Given the description of an element on the screen output the (x, y) to click on. 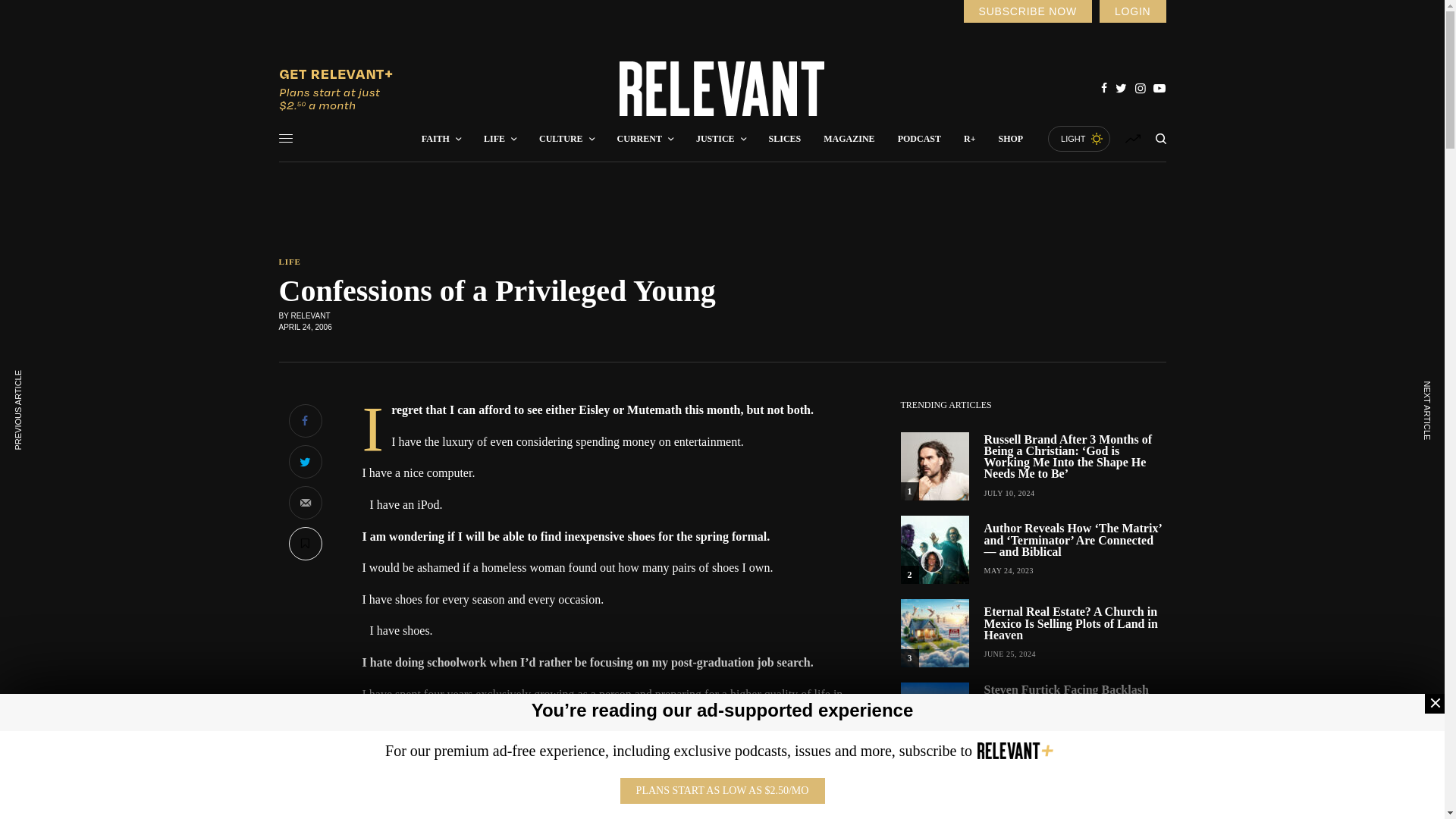
SUBSCRIBE NOW (1026, 11)
RELEVANT (722, 88)
LOGIN (1132, 11)
